Given the description of an element on the screen output the (x, y) to click on. 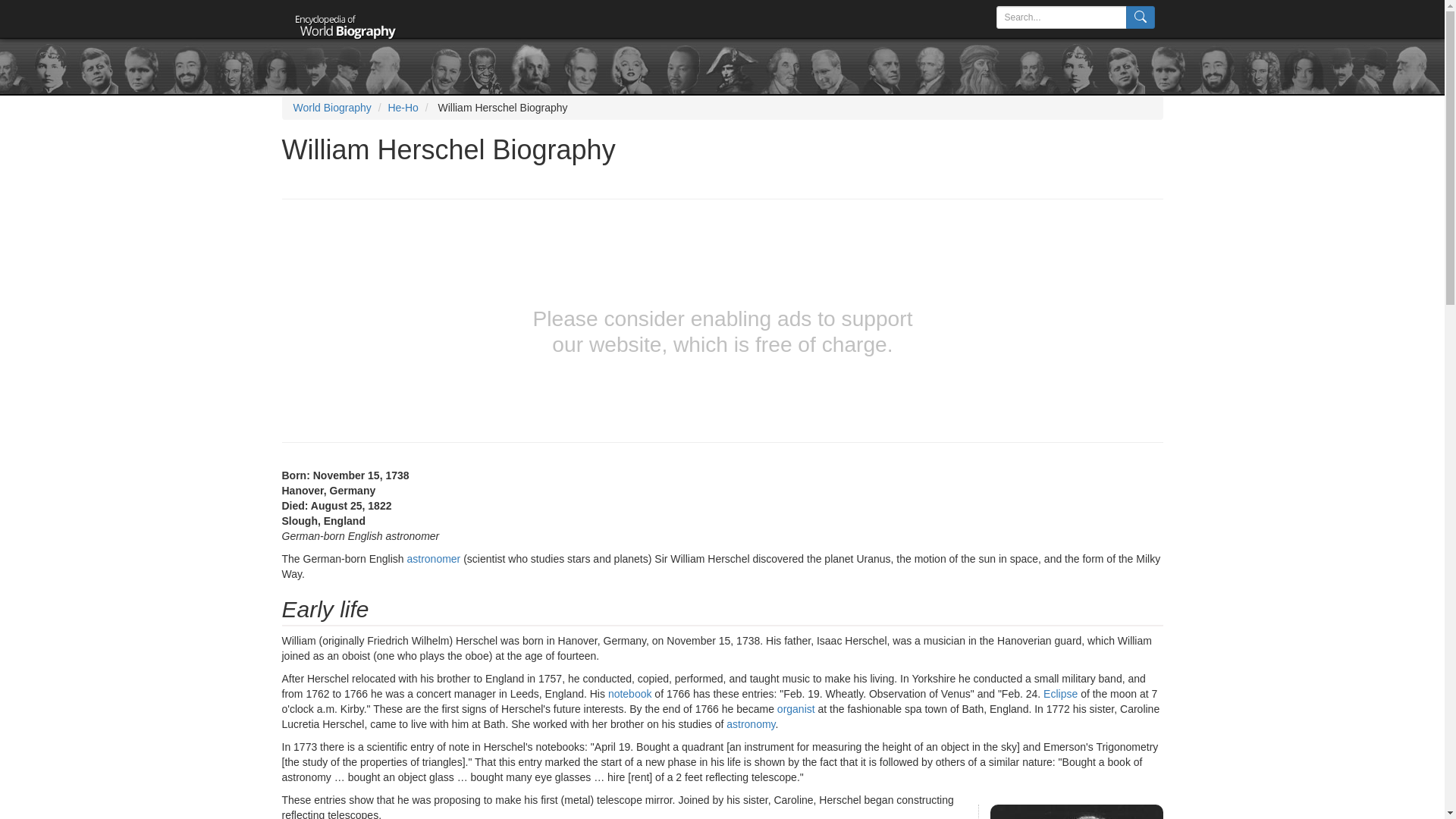
View 'astronomer' definition from Wikipedia (433, 558)
View 'eclipse' definition from Wikipedia (1060, 693)
View 'organist' definition from Wikipedia (796, 708)
astronomer (433, 558)
Eclipse (1060, 693)
He-Ho (402, 107)
View 'notebook' definition from Wikipedia (630, 693)
astronomy (750, 724)
notebook (630, 693)
organist (796, 708)
View 'astronomy' definition from Wikipedia (750, 724)
World Biography (331, 107)
